Given the description of an element on the screen output the (x, y) to click on. 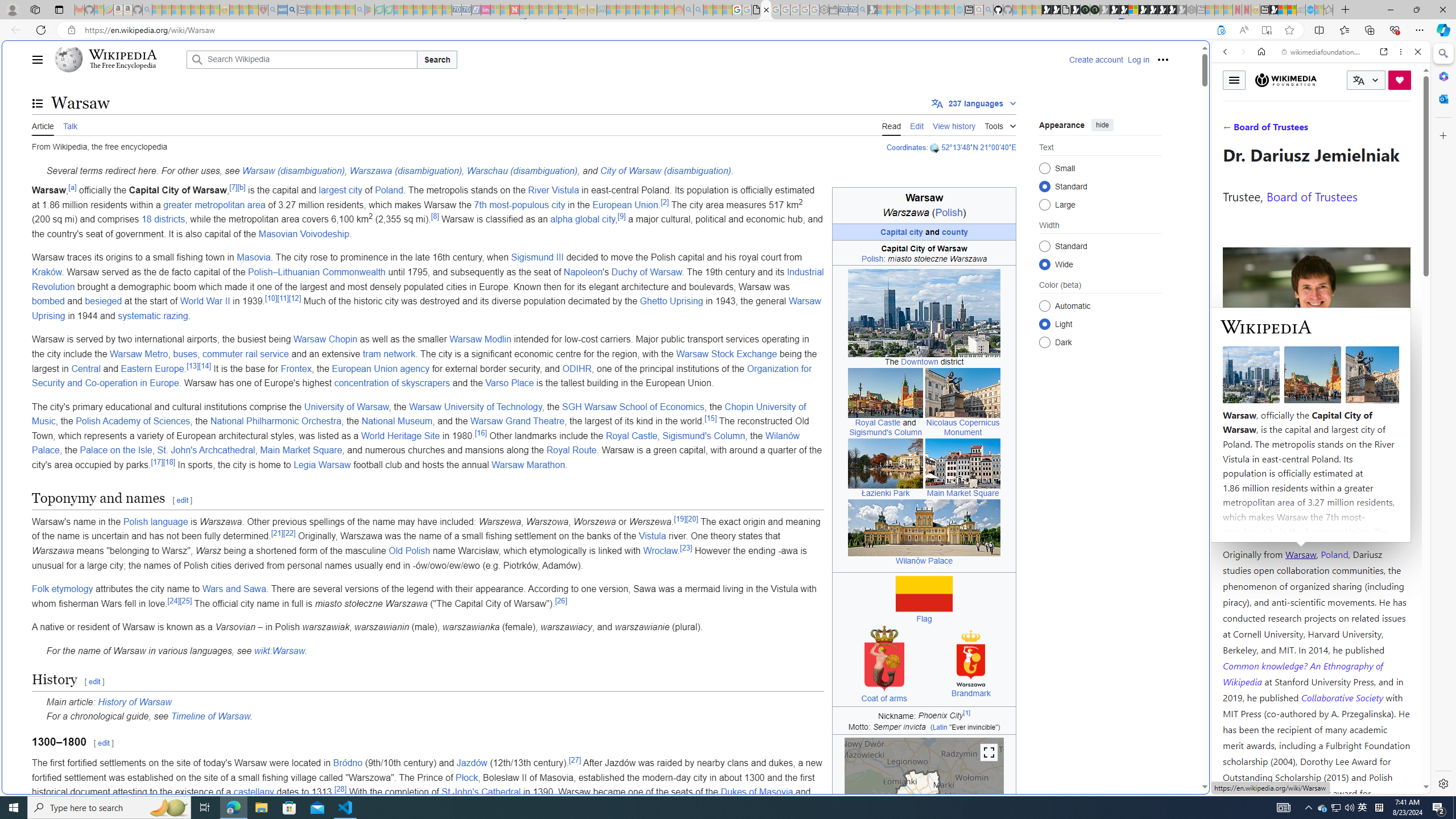
Staszic Palace and Nicolaus Copernicus Monument (963, 392)
Support Wikipedia? (1220, 29)
Close split screen (1208, 57)
wikt:Warsaw (278, 650)
Warszawa (disambiguation) (405, 171)
bombed (48, 301)
Masovian Voivodeship (303, 233)
alpha (561, 219)
